Given the description of an element on the screen output the (x, y) to click on. 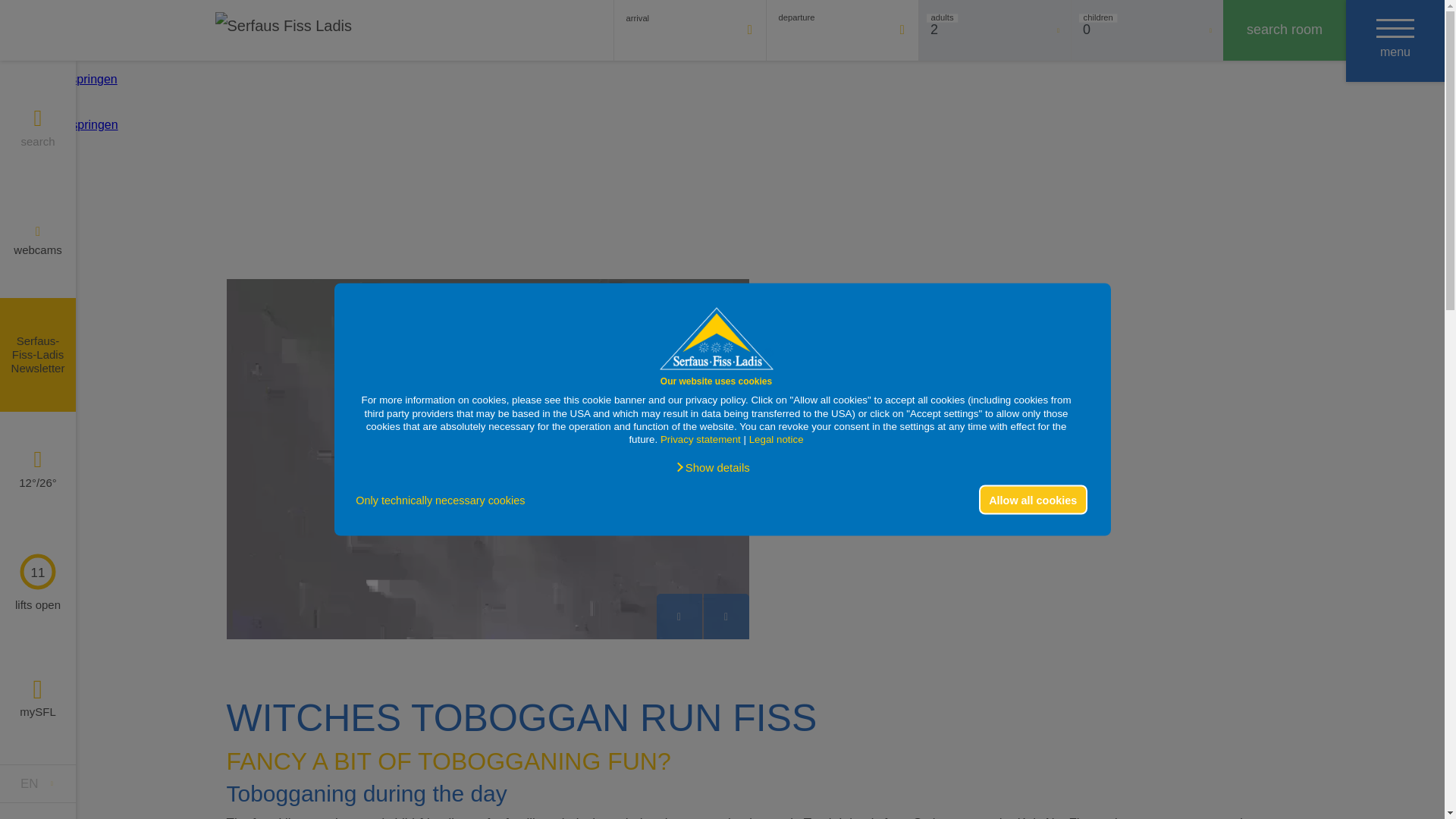
Privacy statement (701, 439)
Legal notice (773, 439)
Only technically necessary cookies (444, 499)
Allow all cookies (1032, 499)
EN (37, 783)
Legal notice (773, 439)
Show details (712, 467)
search room (1284, 30)
Privacy statement (701, 439)
